Given the description of an element on the screen output the (x, y) to click on. 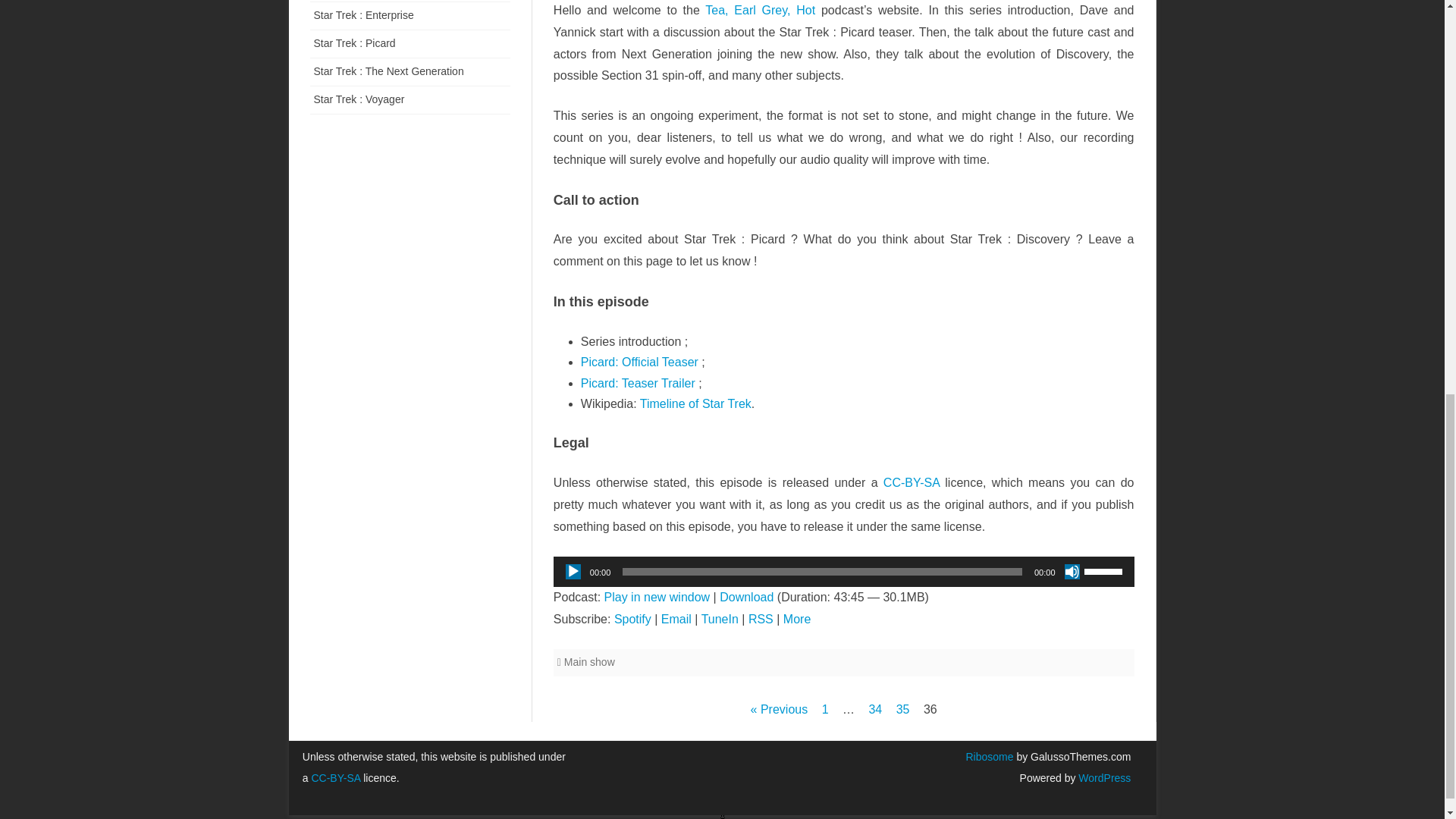
Subscribe on TuneIn (719, 618)
Play in new window (657, 596)
More (796, 618)
Subscribe via RSS (760, 618)
Subscribe on Spotify (632, 618)
Download (746, 596)
Play (573, 571)
Mute (1072, 571)
Subscribe by Email (676, 618)
